Given the description of an element on the screen output the (x, y) to click on. 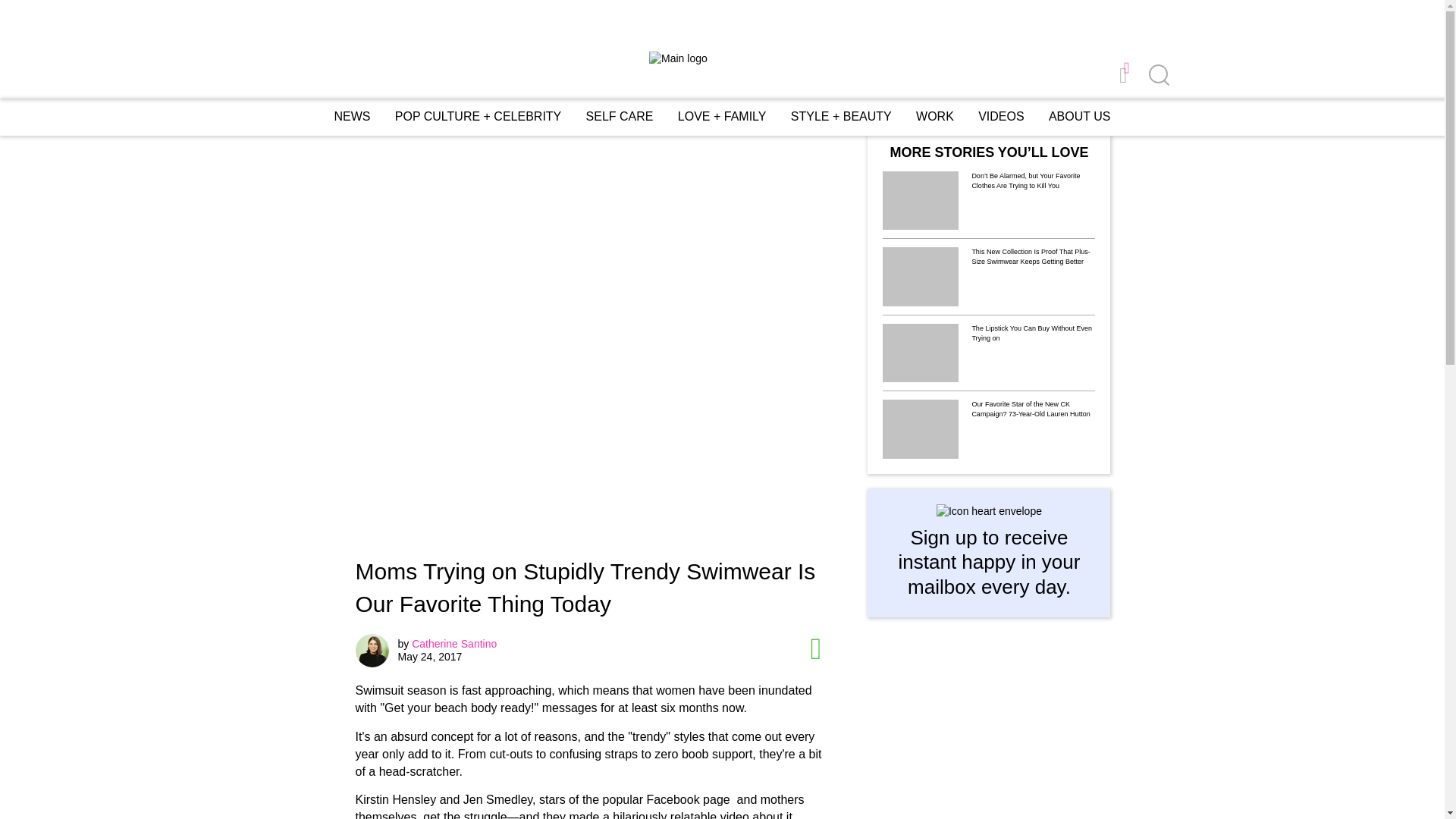
NEWS (351, 115)
VIDEOS (1000, 117)
SELF CARE (619, 115)
Open Search Field. (1158, 75)
WORK (934, 115)
ABOUT US (1079, 117)
Catherine Santino (454, 644)
The Lipstick You Can Buy Without Even Trying on (1032, 334)
